Given the description of an element on the screen output the (x, y) to click on. 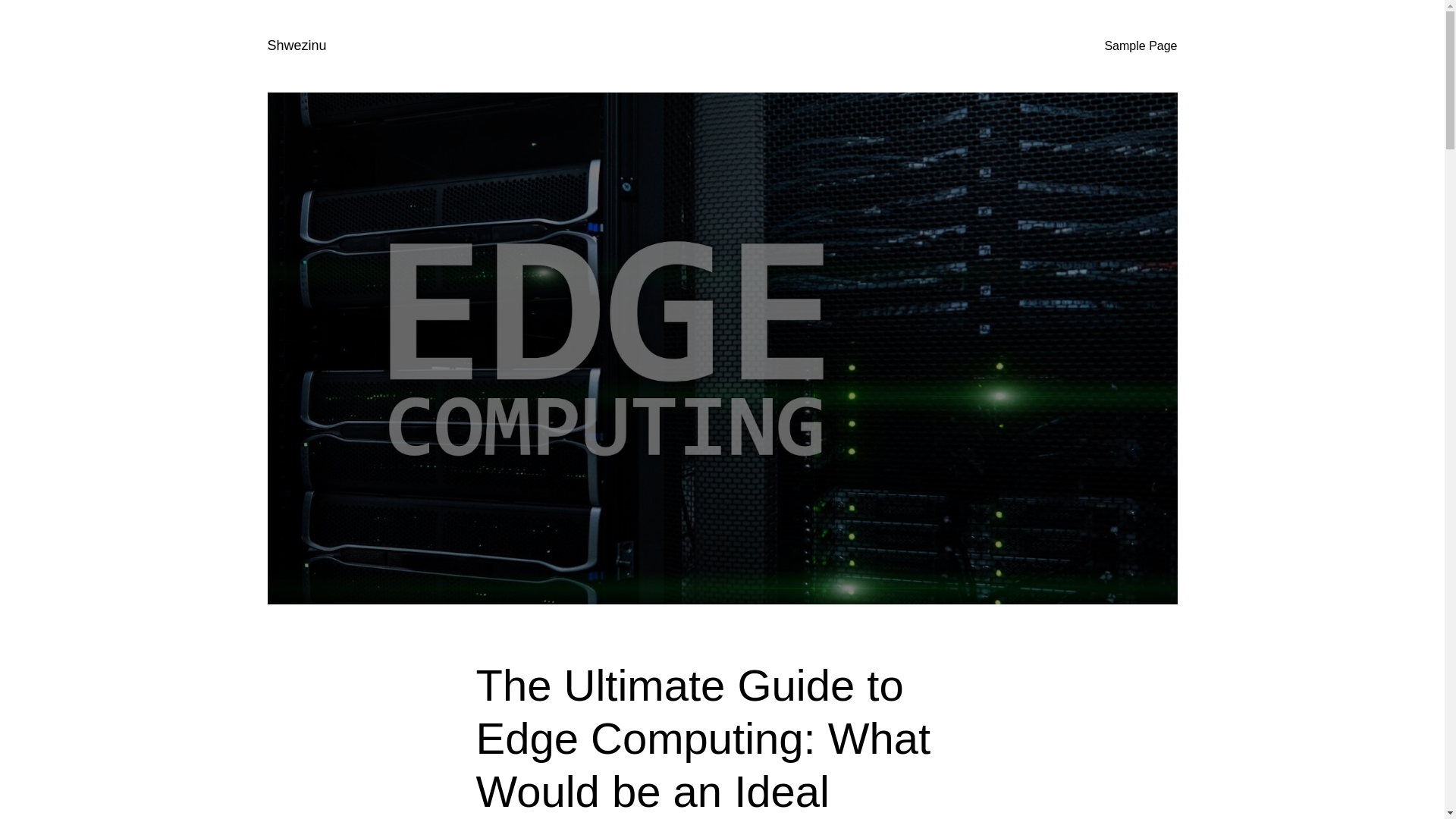
Shwezinu (296, 45)
Sample Page (1139, 46)
